Given the description of an element on the screen output the (x, y) to click on. 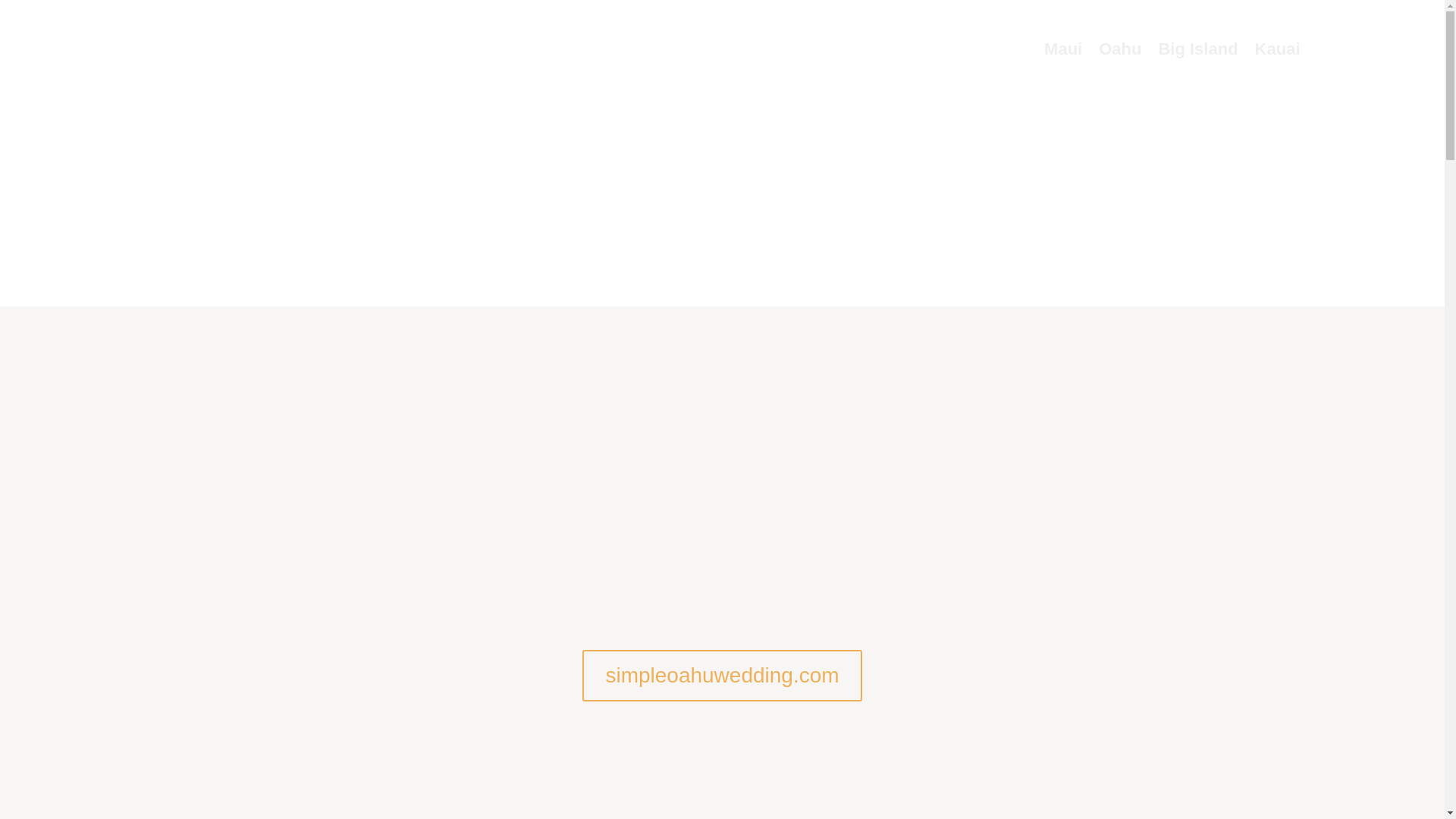
Big Island (1197, 48)
simpleoahuwedding.com (721, 675)
